Given the description of an element on the screen output the (x, y) to click on. 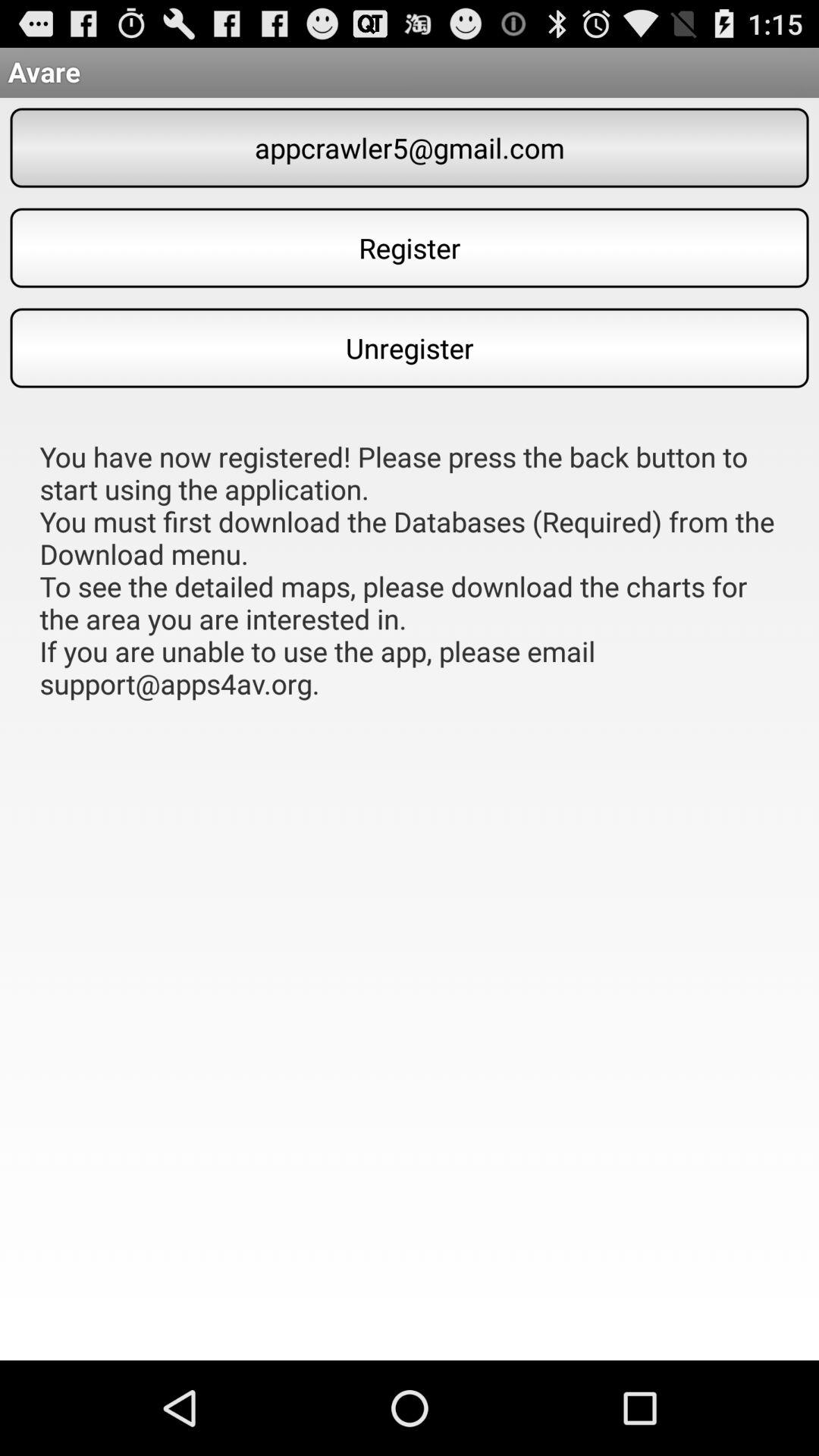
tap button below the register (409, 347)
